Given the description of an element on the screen output the (x, y) to click on. 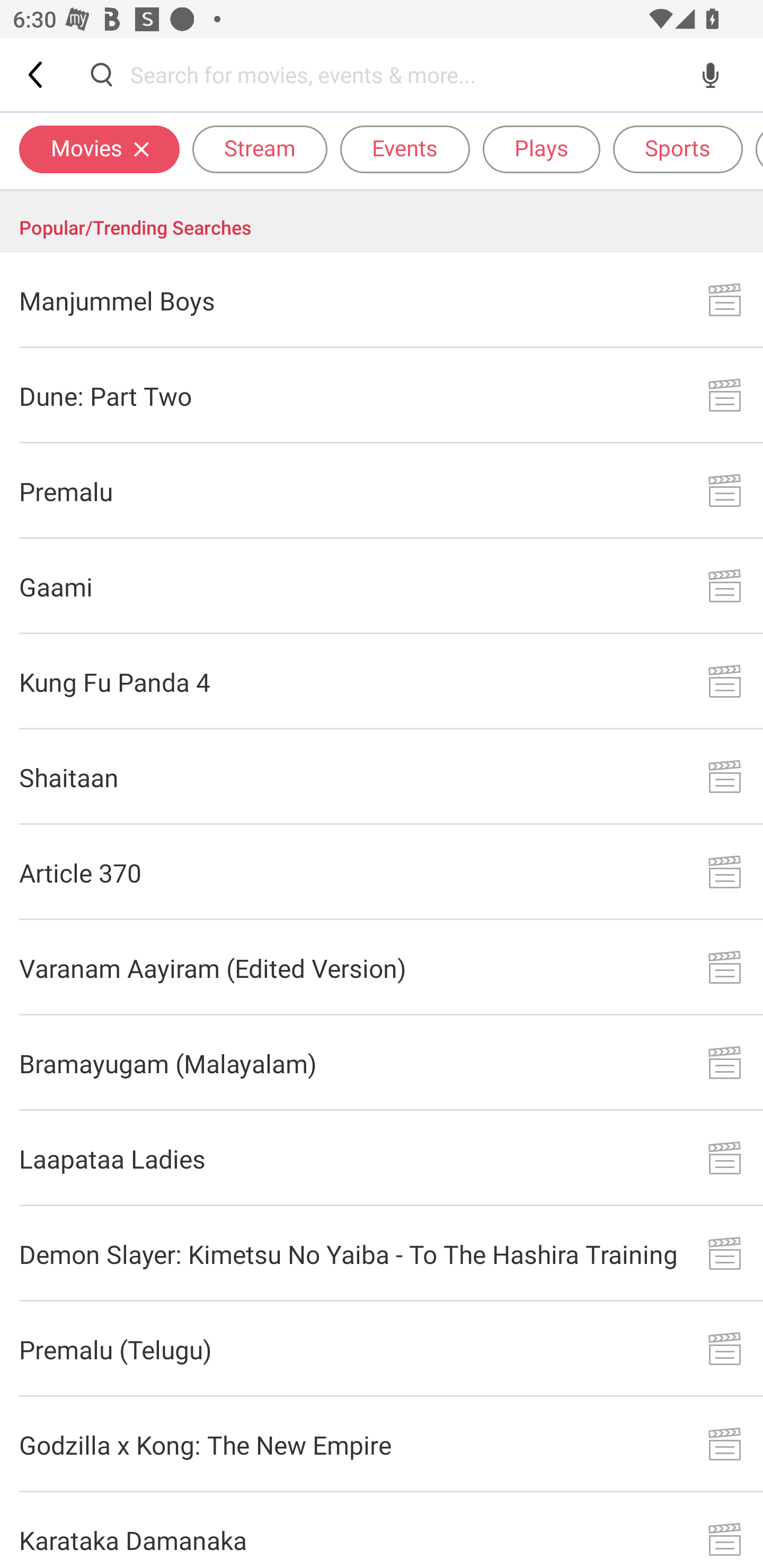
Back (36, 74)
Search for movies, events & more... (406, 74)
Movies Clear (99, 148)
Stream (259, 148)
Events (405, 148)
Plays (541, 148)
Sports (677, 148)
Popular/Trending Searches (381, 220)
Manjummel Boys (381, 300)
Dune: Part Two (381, 395)
Premalu (381, 491)
Gaami (381, 586)
Kung Fu Panda 4 (381, 681)
Shaitaan (381, 776)
Article 370 (381, 872)
Varanam Aayiram (Edited Version) (381, 968)
Bramayugam (Malayalam) (381, 1063)
Laapataa Ladies (381, 1157)
Premalu (Telugu) (381, 1349)
Godzilla x Kong: The New Empire (381, 1444)
Karataka Damanaka (381, 1530)
